Given the description of an element on the screen output the (x, y) to click on. 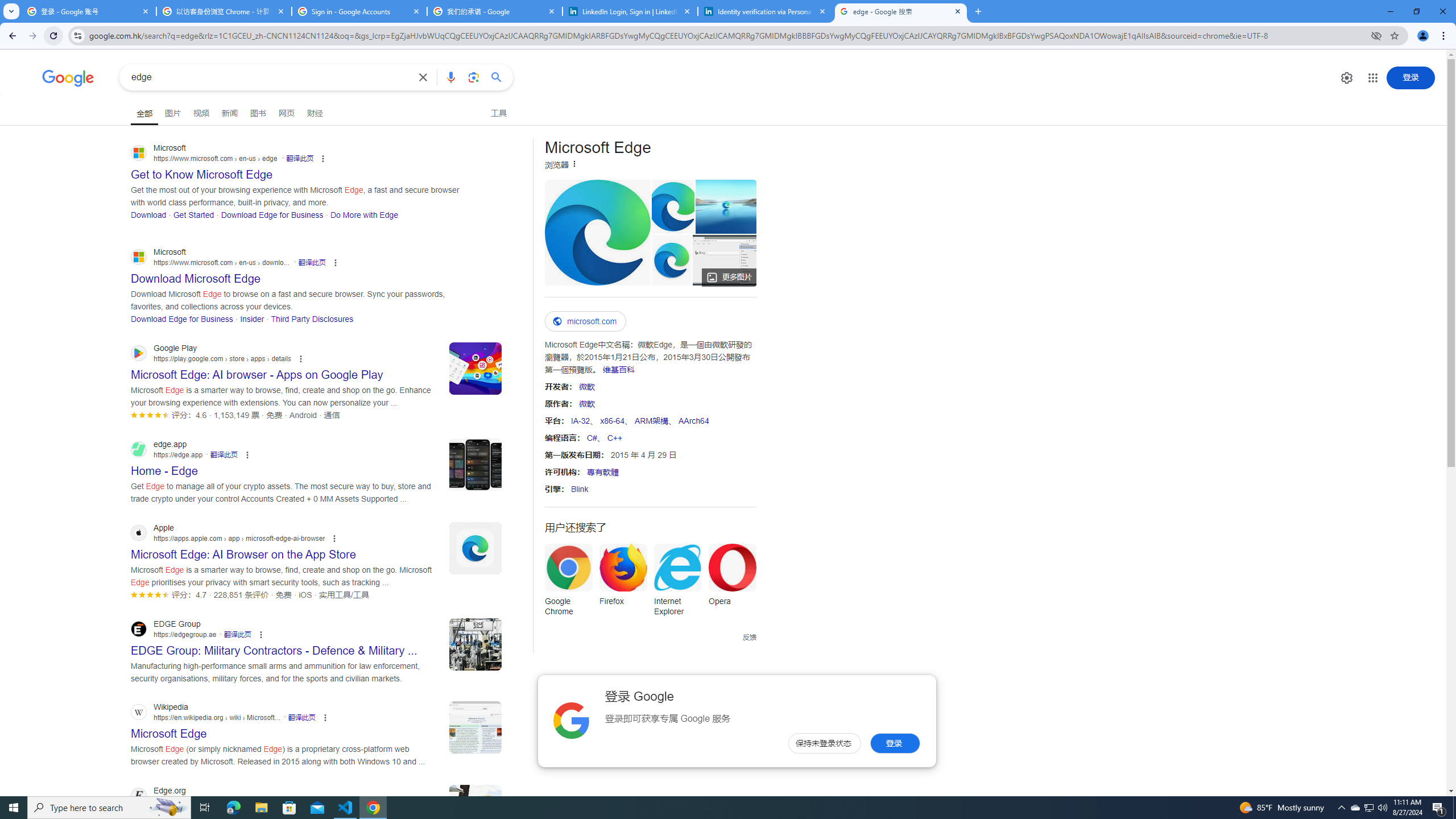
Insider (252, 318)
Do More with Edge (364, 214)
